Given the description of an element on the screen output the (x, y) to click on. 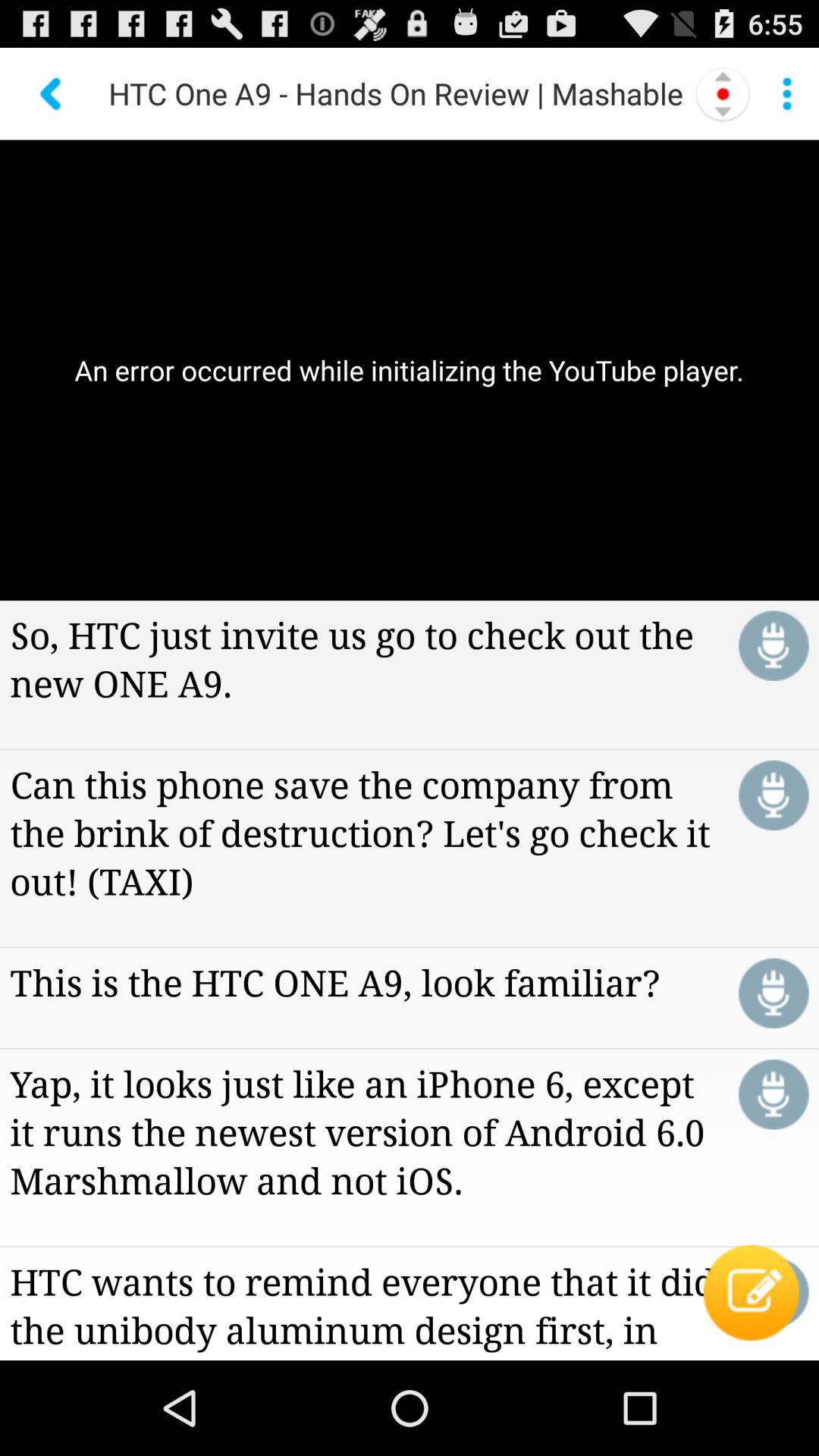
add a note (773, 1292)
